Given the description of an element on the screen output the (x, y) to click on. 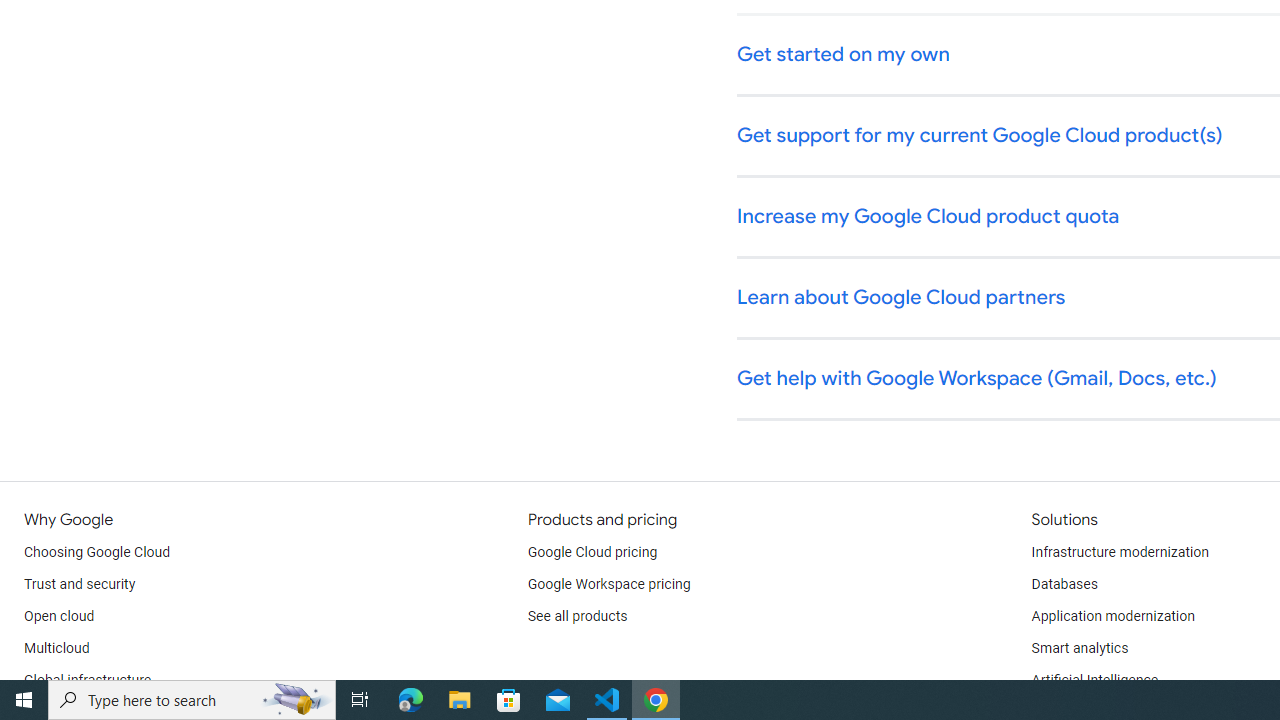
Multicloud (56, 648)
Google Workspace pricing (609, 584)
Global infrastructure (88, 680)
Artificial Intelligence (1094, 680)
Google Cloud pricing (592, 552)
Databases (1064, 584)
Infrastructure modernization (1119, 552)
Application modernization (1112, 616)
Open cloud (59, 616)
Choosing Google Cloud (97, 552)
Trust and security (79, 584)
See all products (577, 616)
Smart analytics (1079, 648)
